Given the description of an element on the screen output the (x, y) to click on. 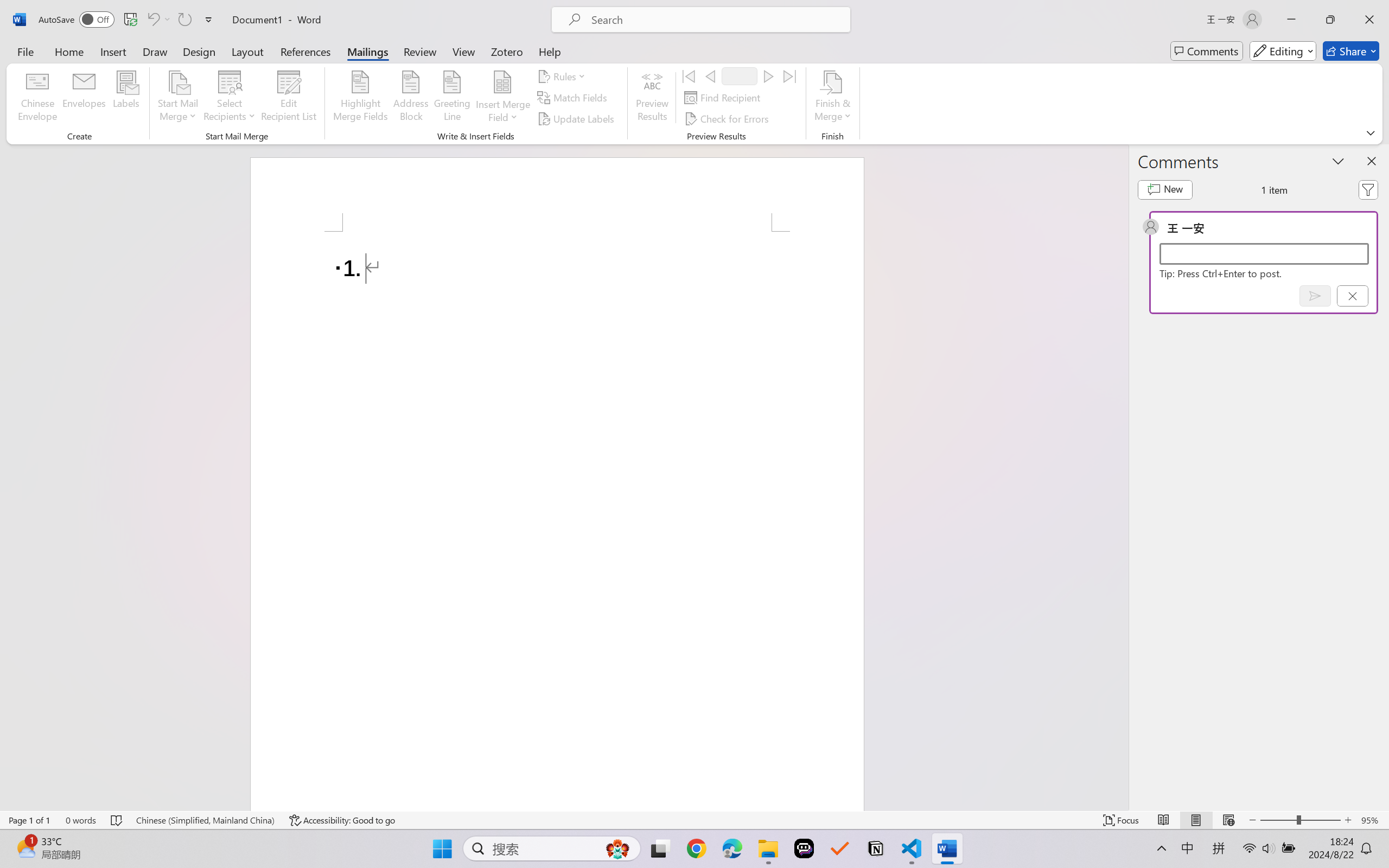
Match Fields... (573, 97)
First (688, 75)
Record (739, 76)
Select Recipients (229, 97)
Update Labels (576, 118)
Preview Results (652, 97)
Start Mail Merge (177, 97)
Chinese Envelope... (37, 97)
